Given the description of an element on the screen output the (x, y) to click on. 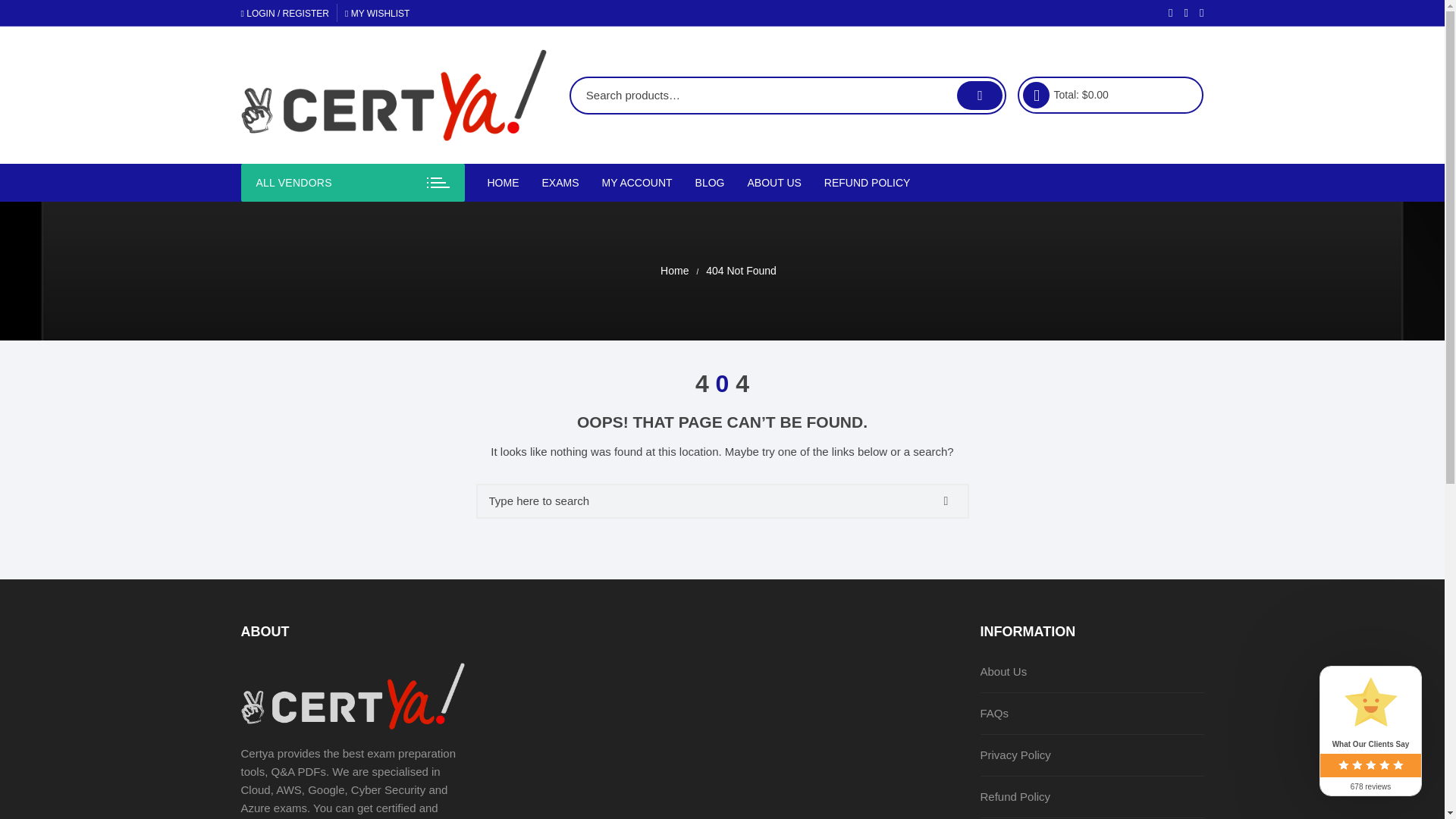
HOME (507, 182)
ABOUT US (774, 182)
BLOG (710, 182)
REFUND POLICY (866, 182)
MY ACCOUNT (637, 182)
MY WISHLIST (377, 13)
ALL VENDORS (352, 182)
EXAMS (561, 182)
